Given the description of an element on the screen output the (x, y) to click on. 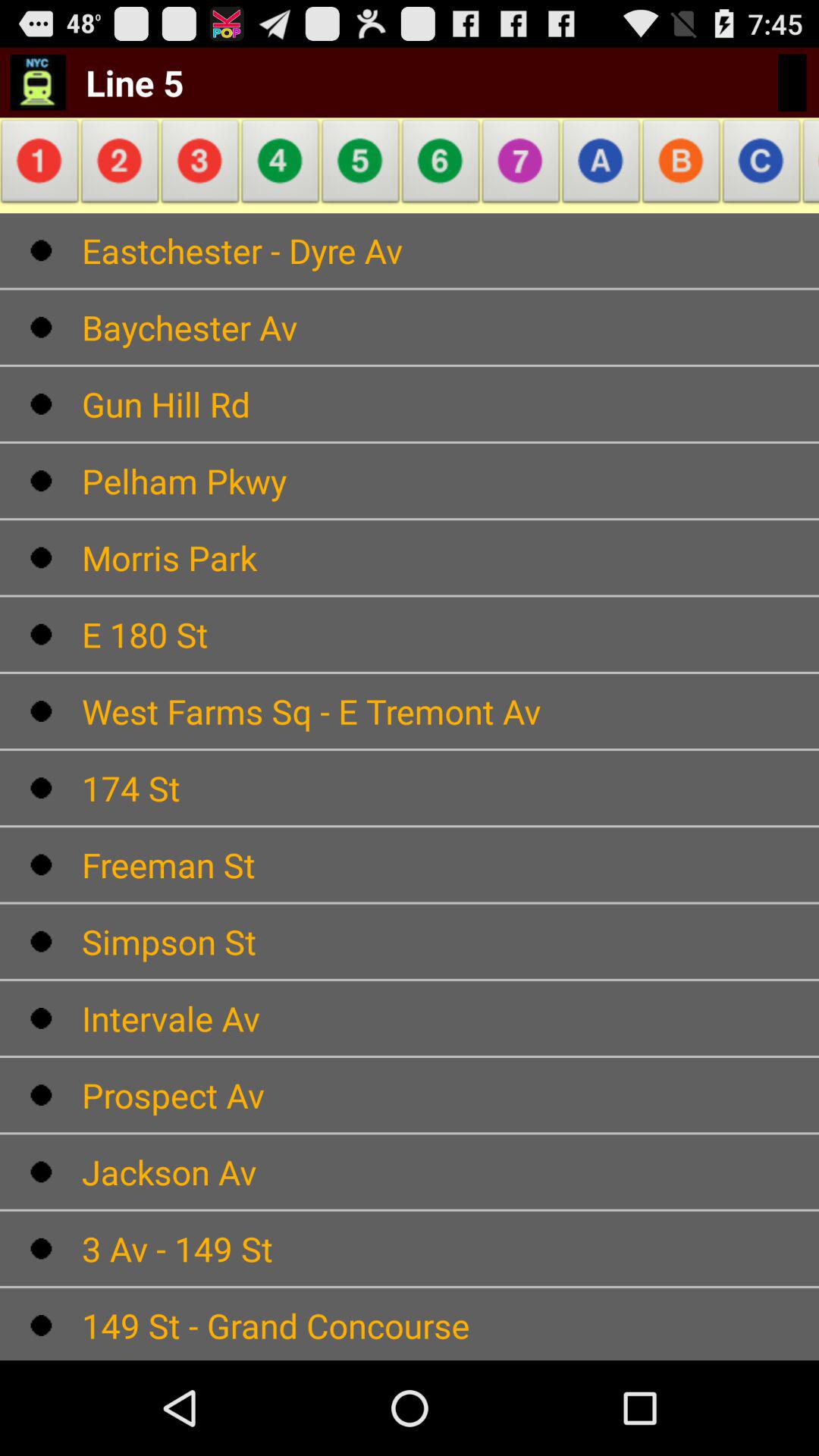
press the app above the eastchester - dyre av icon (807, 165)
